Given the description of an element on the screen output the (x, y) to click on. 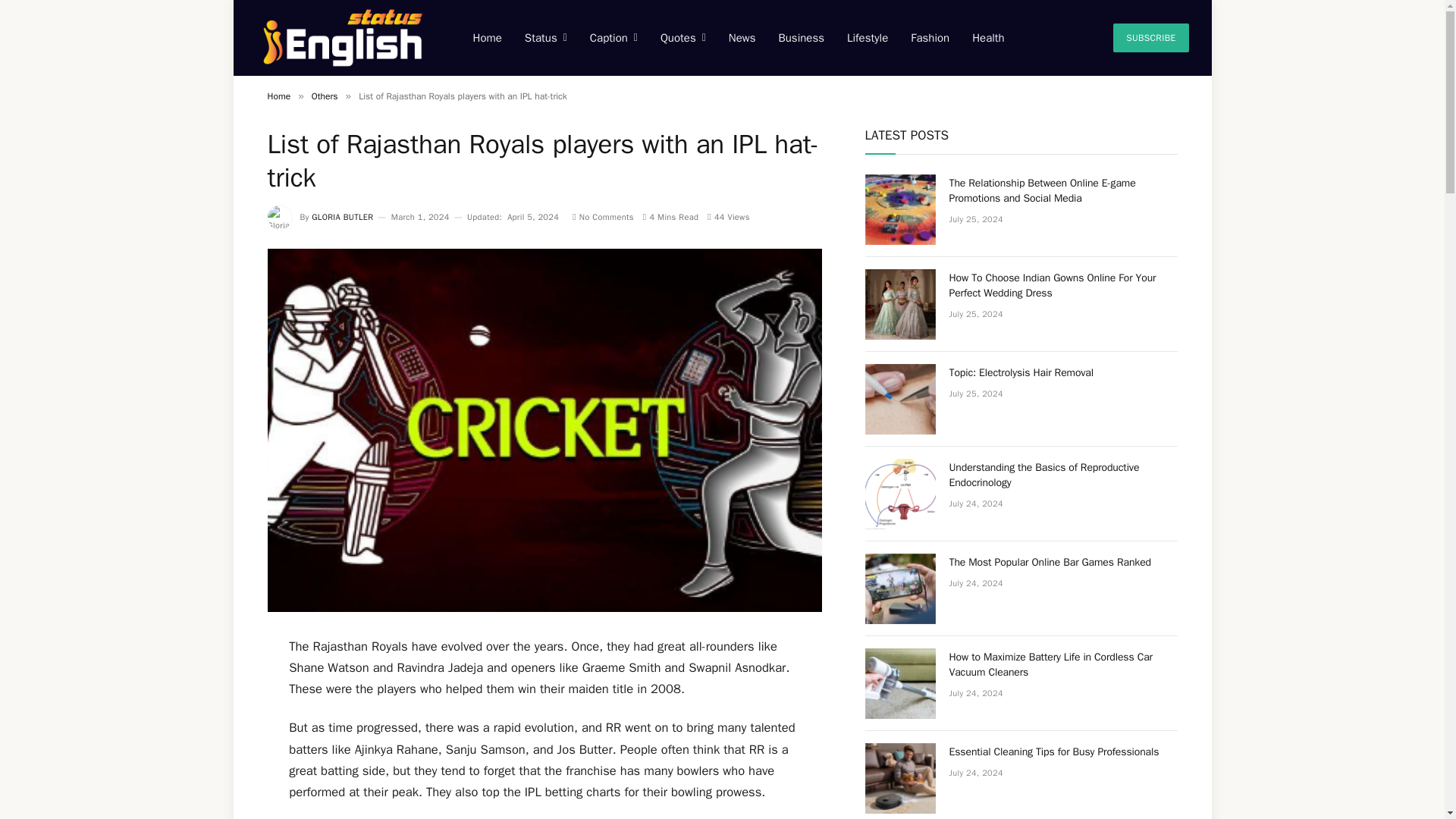
No Comments (602, 216)
Quotes (683, 38)
iEnglish Status (345, 38)
SUBSCRIBE (1150, 37)
Others (324, 96)
44 Article Views (728, 216)
Home (277, 96)
Posts by Gloria Butler (341, 216)
Business (801, 38)
Caption (613, 38)
GLORIA BUTLER (341, 216)
